Given the description of an element on the screen output the (x, y) to click on. 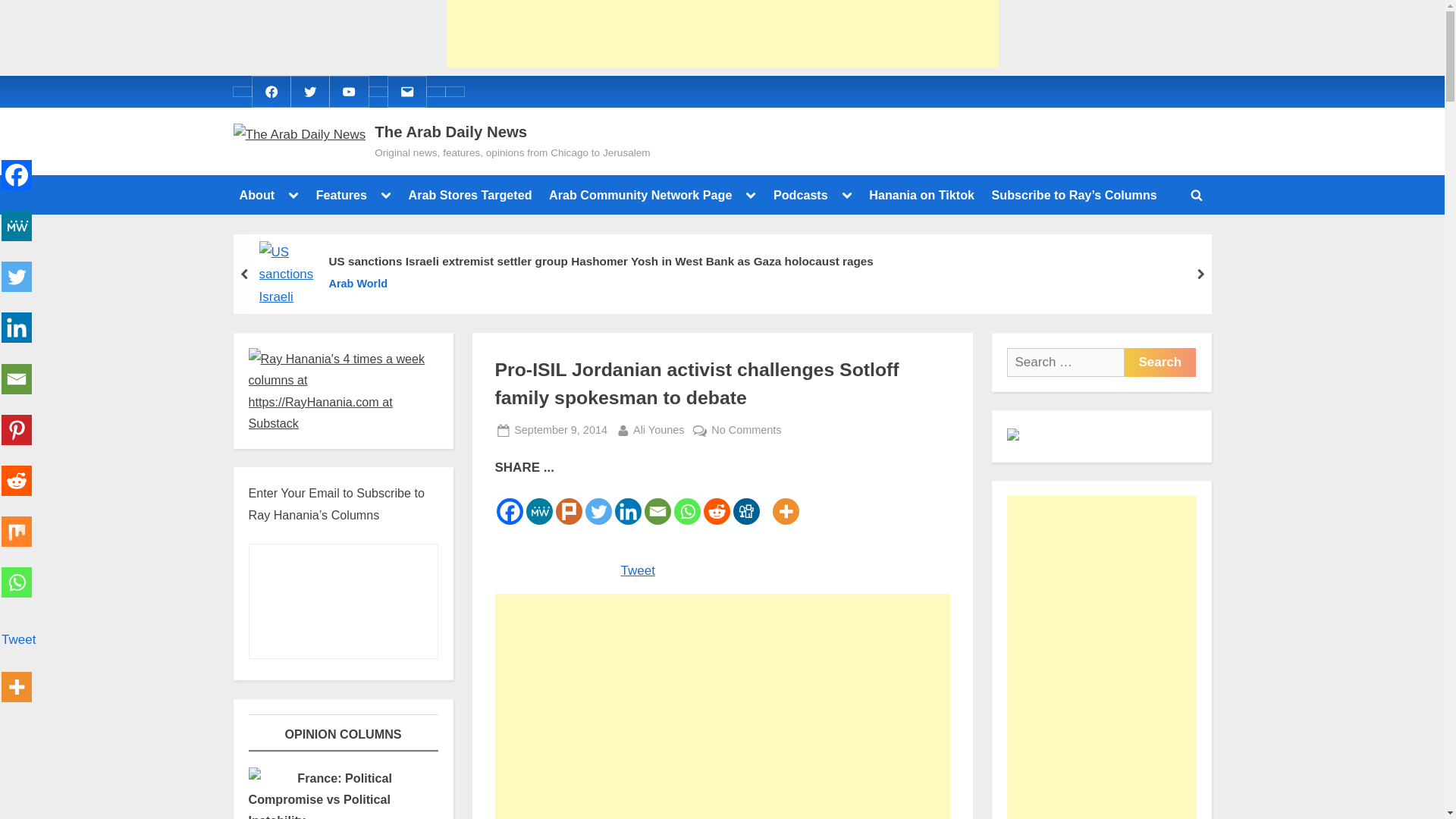
Toggle sub-menu (750, 194)
Toggle sub-menu (293, 194)
The Arab Daily News (450, 131)
Youtube (348, 91)
Twitter (309, 91)
Advertisement (721, 33)
Search (1159, 362)
About (256, 194)
Features (341, 194)
Toggle sub-menu (385, 194)
